Given the description of an element on the screen output the (x, y) to click on. 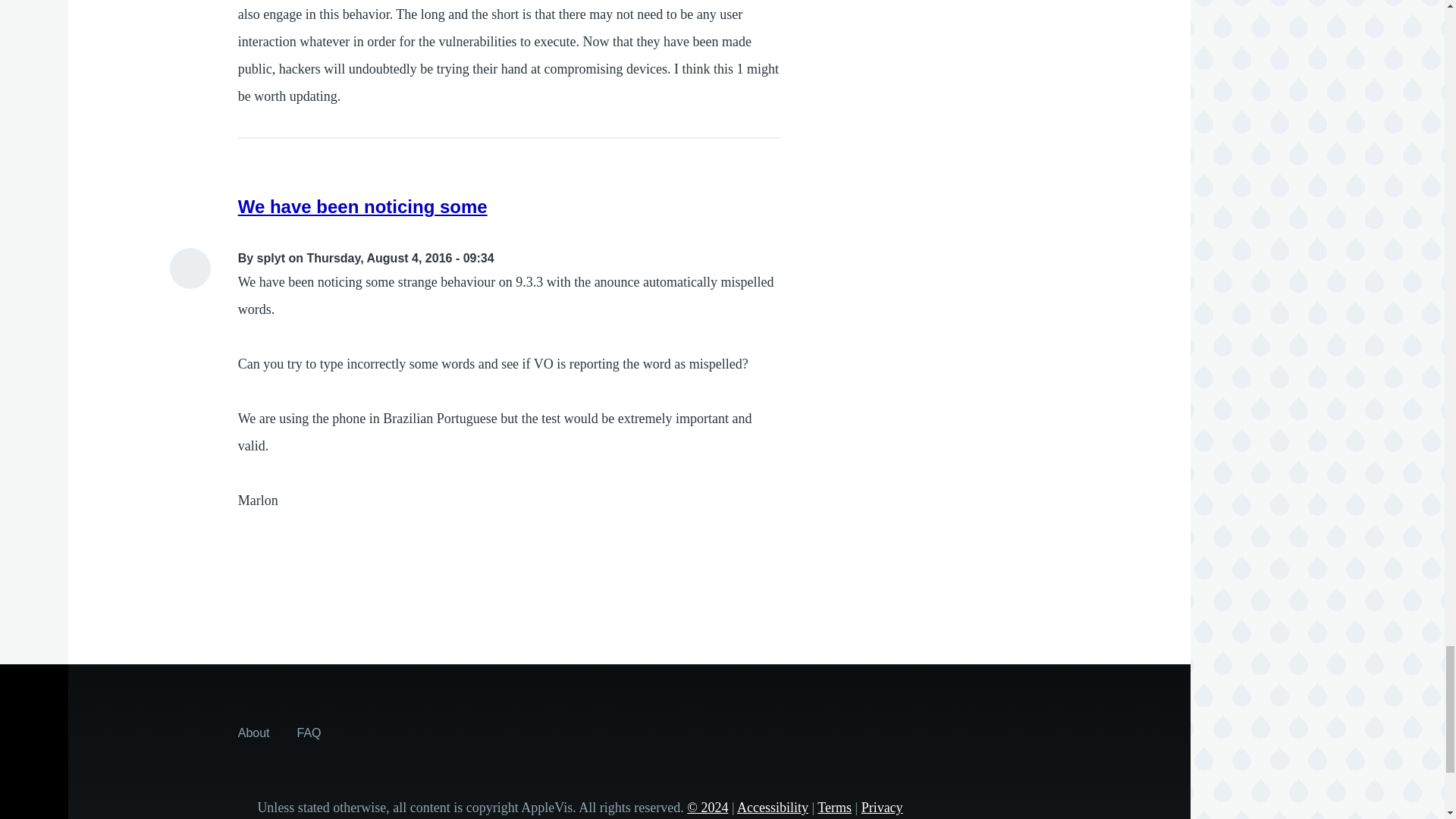
We have been noticing some (362, 206)
About (253, 732)
